Given the description of an element on the screen output the (x, y) to click on. 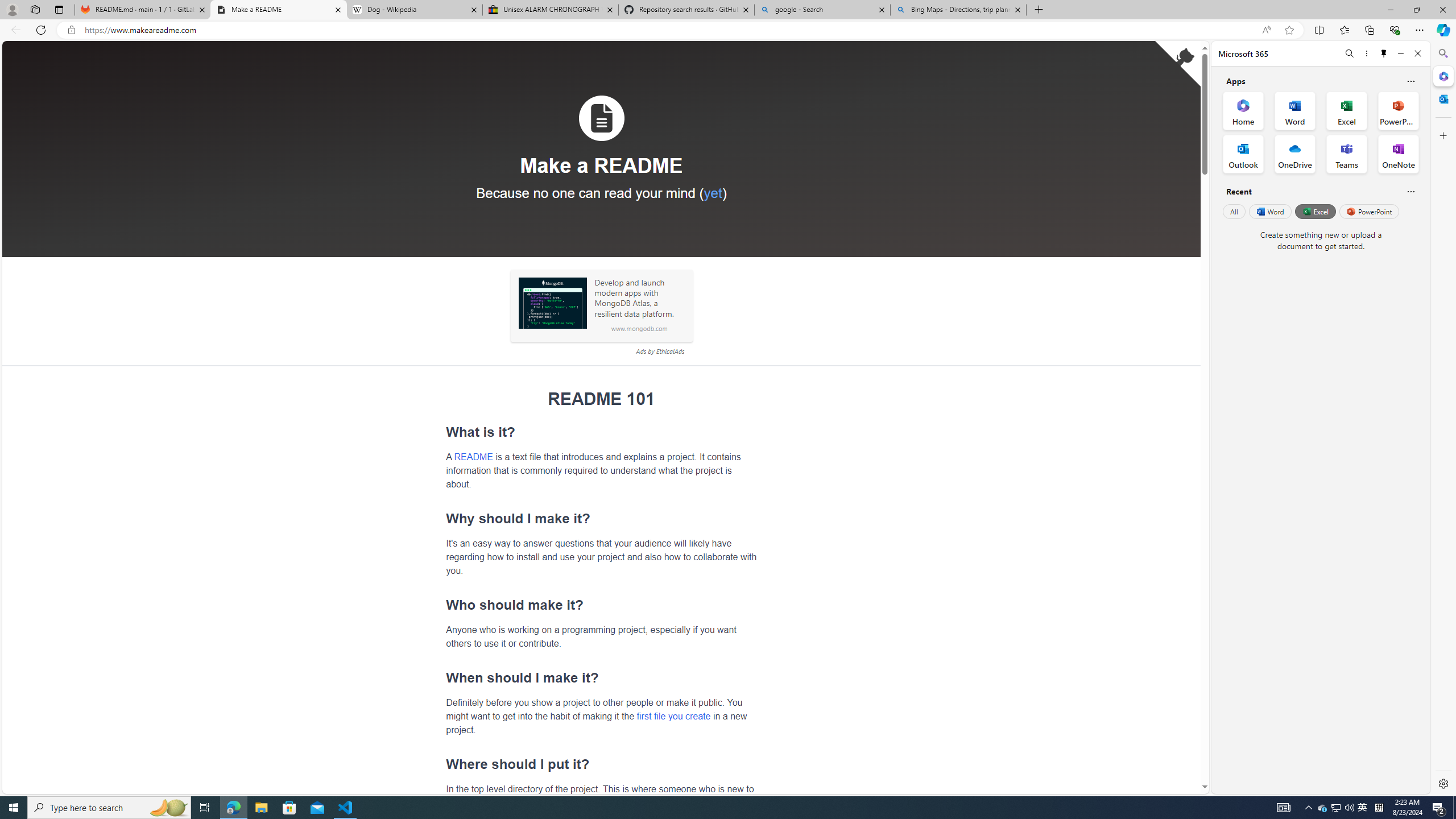
Sponsored: MongoDB (552, 302)
yet (712, 192)
Word (1269, 210)
Sponsored: MongoDB (552, 302)
OneNote Office App (1398, 154)
OneDrive Office App (1295, 154)
PowerPoint (1369, 210)
